Given the description of an element on the screen output the (x, y) to click on. 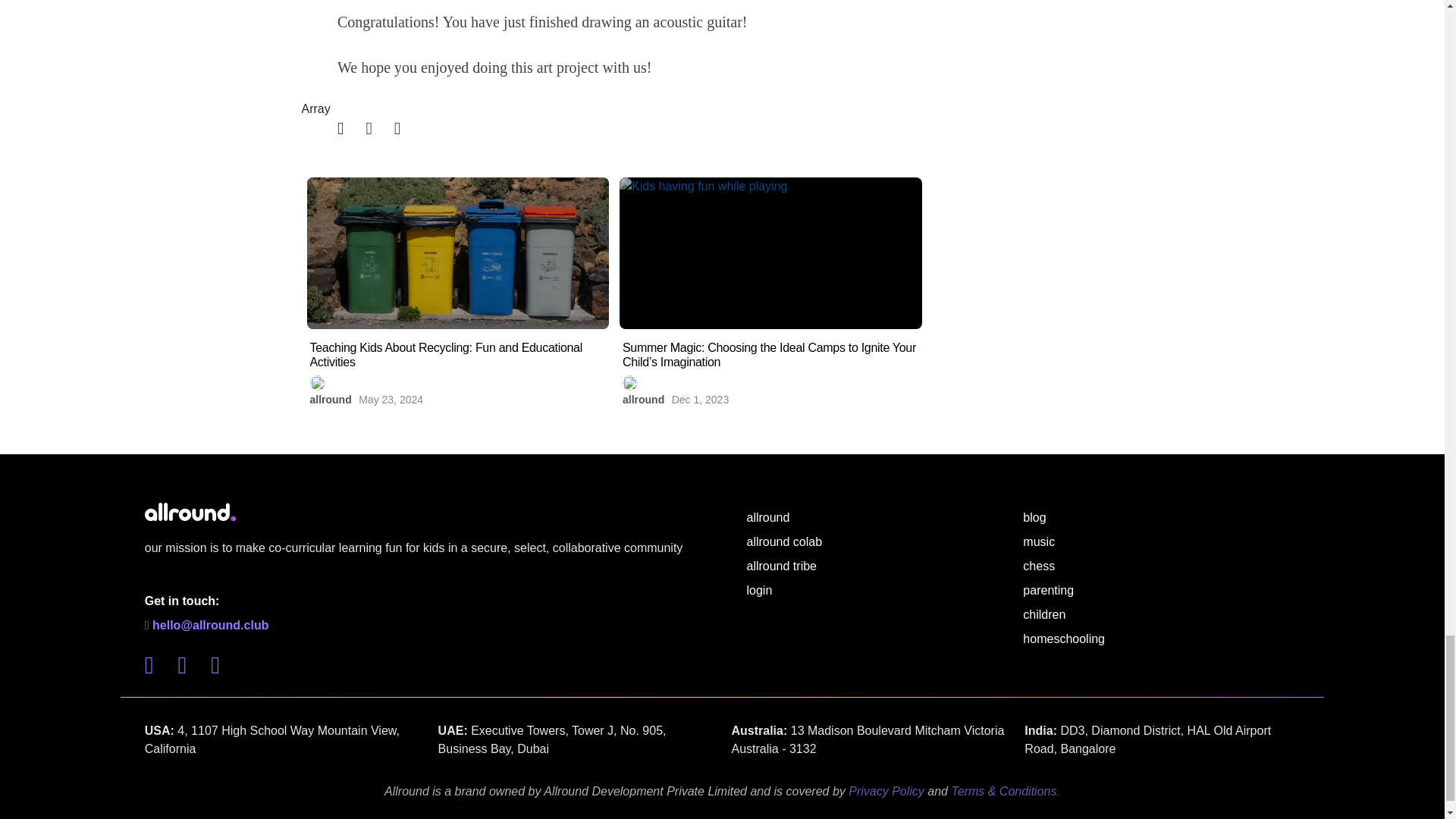
Posts by allround (643, 399)
Posts by allround (329, 399)
